Given the description of an element on the screen output the (x, y) to click on. 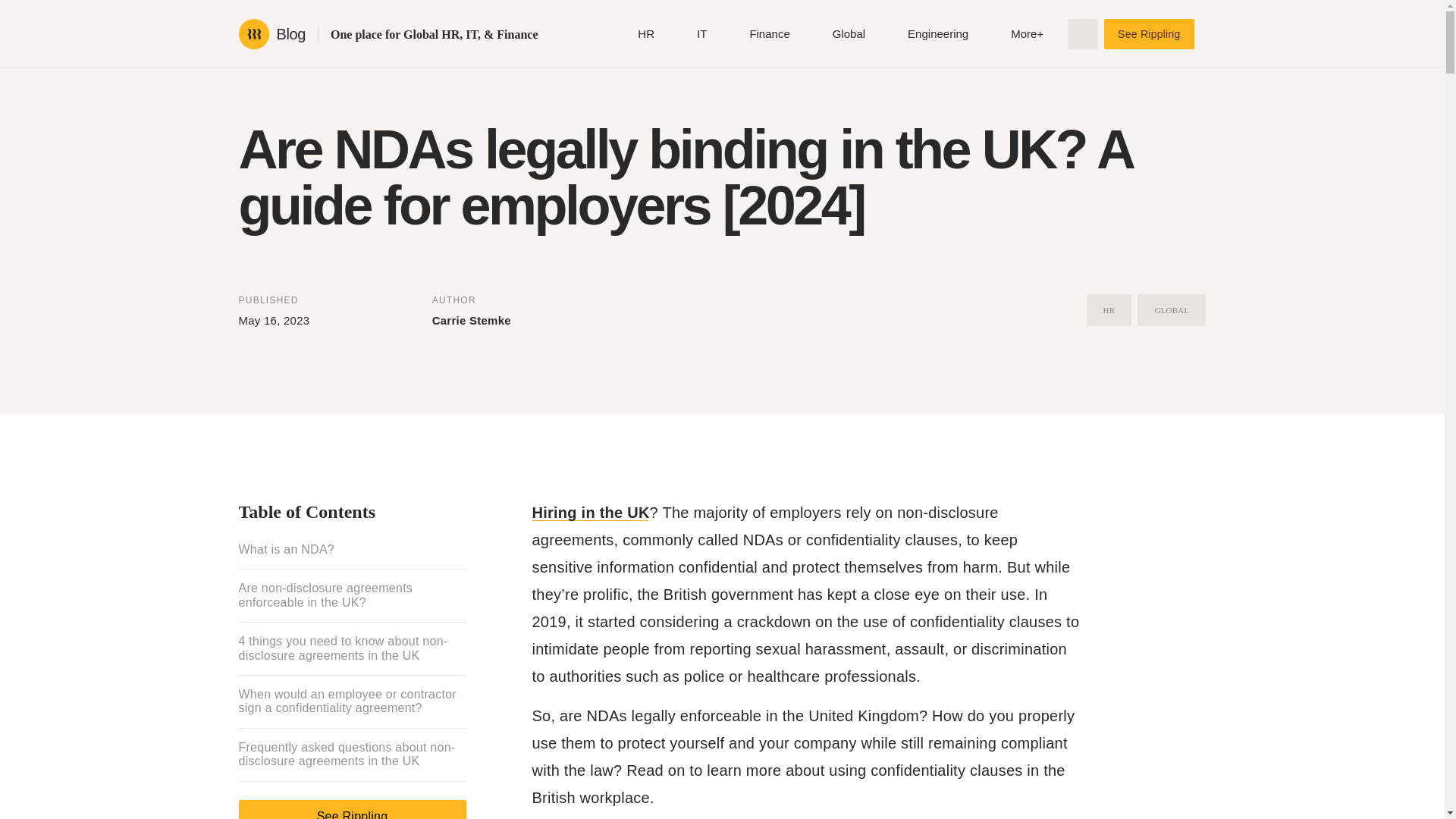
Rippling (252, 33)
Finance (769, 33)
Engineering (937, 33)
HR (645, 33)
Finance (769, 33)
See Rippling (1148, 32)
Engineering (937, 33)
Global (848, 33)
Rippling Blog (290, 33)
Global (848, 33)
